Given the description of an element on the screen output the (x, y) to click on. 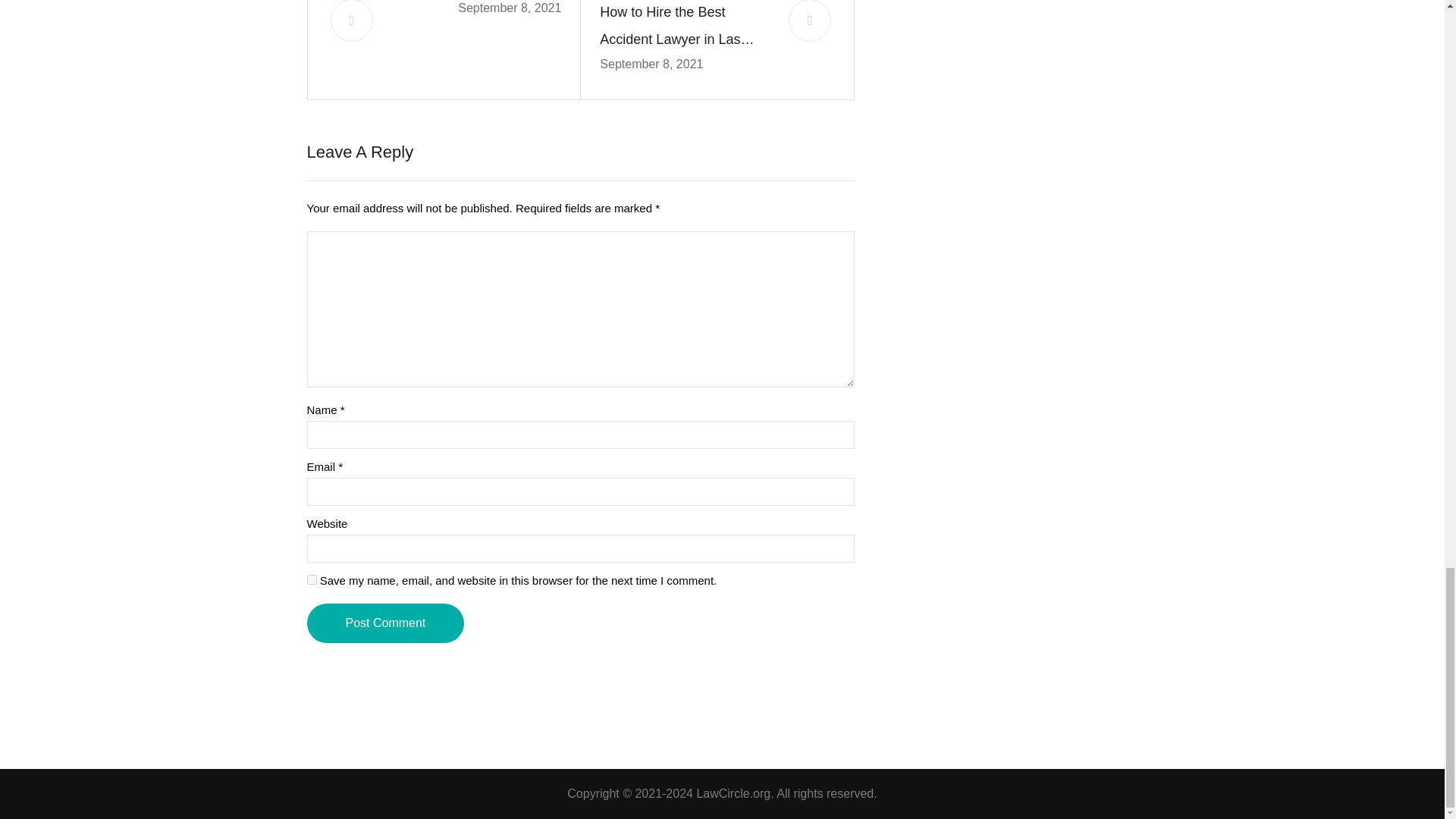
September 8, 2021 (651, 63)
How to Hire the Best Accident Lawyer in Las Vegas (684, 26)
Post Comment (384, 622)
Post Comment (384, 622)
September 8, 2021 (509, 7)
yes (310, 579)
